Given the description of an element on the screen output the (x, y) to click on. 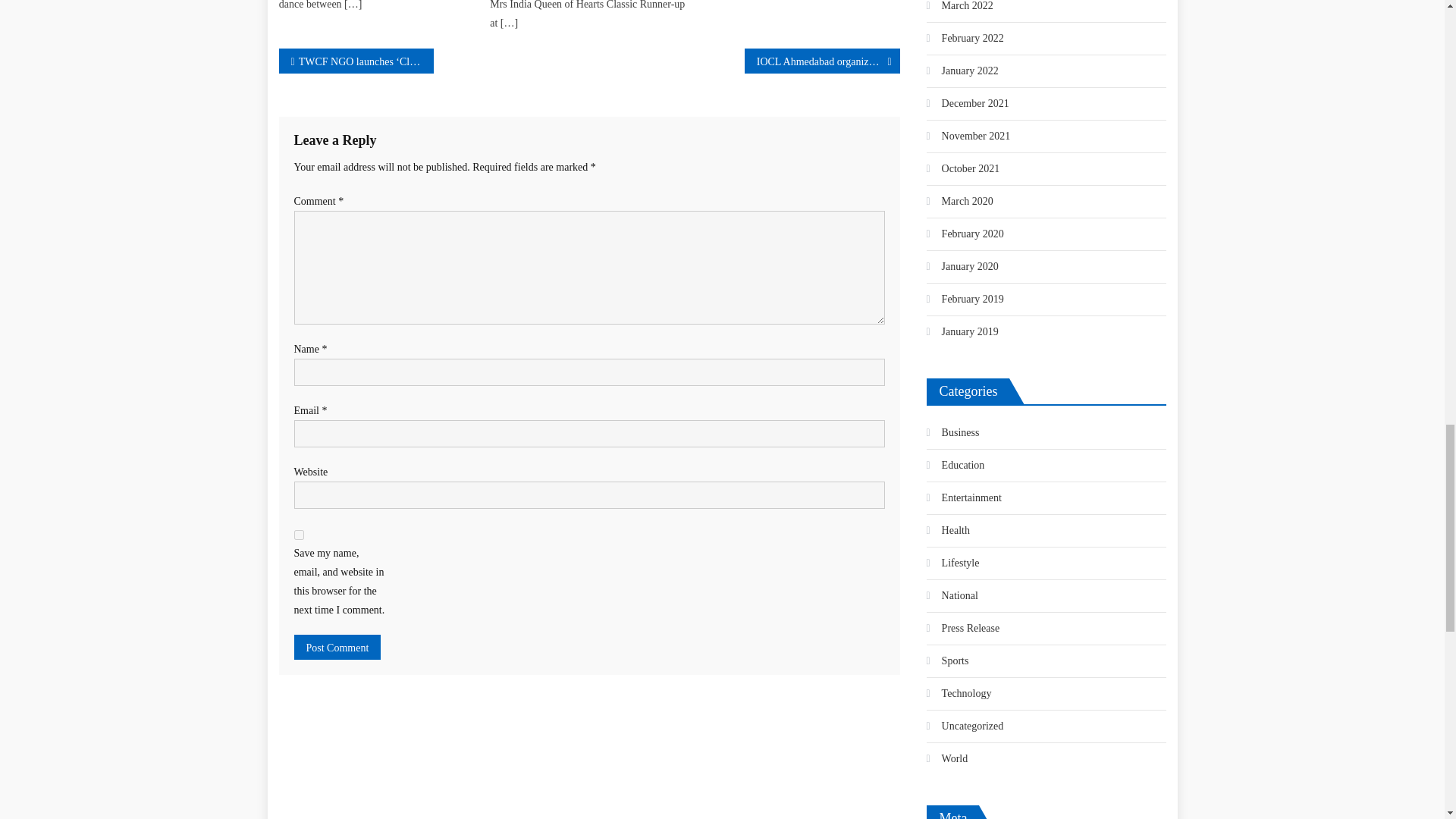
Post Comment (337, 647)
yes (299, 534)
